Given the description of an element on the screen output the (x, y) to click on. 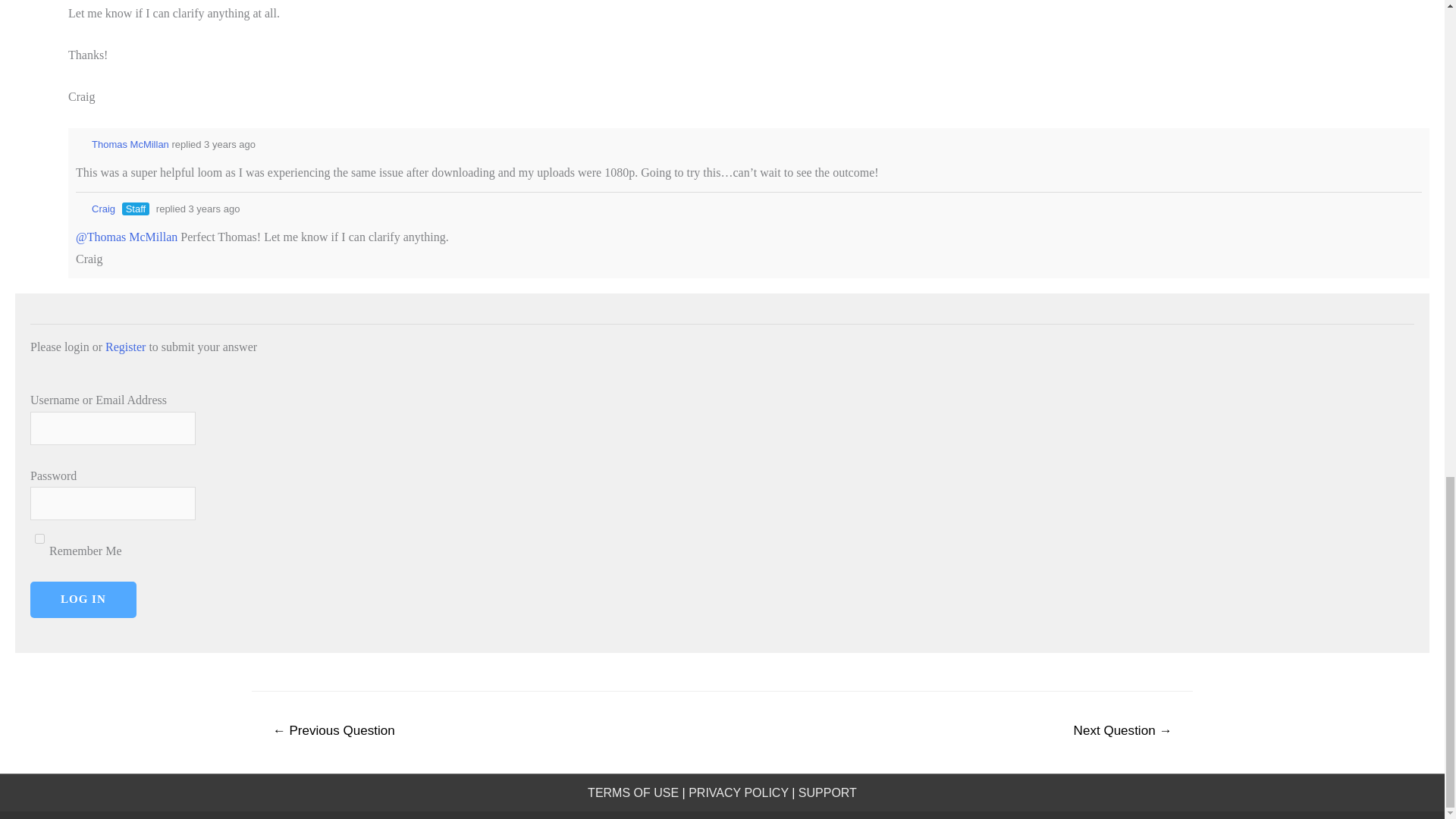
Register (124, 346)
Craig (95, 208)
Log In (83, 599)
PRIVACY POLICY (738, 792)
Log In (83, 599)
Thomas McMillan (121, 143)
SUPPORT (827, 792)
TERMS OF USE (633, 792)
forever (39, 538)
